Given the description of an element on the screen output the (x, y) to click on. 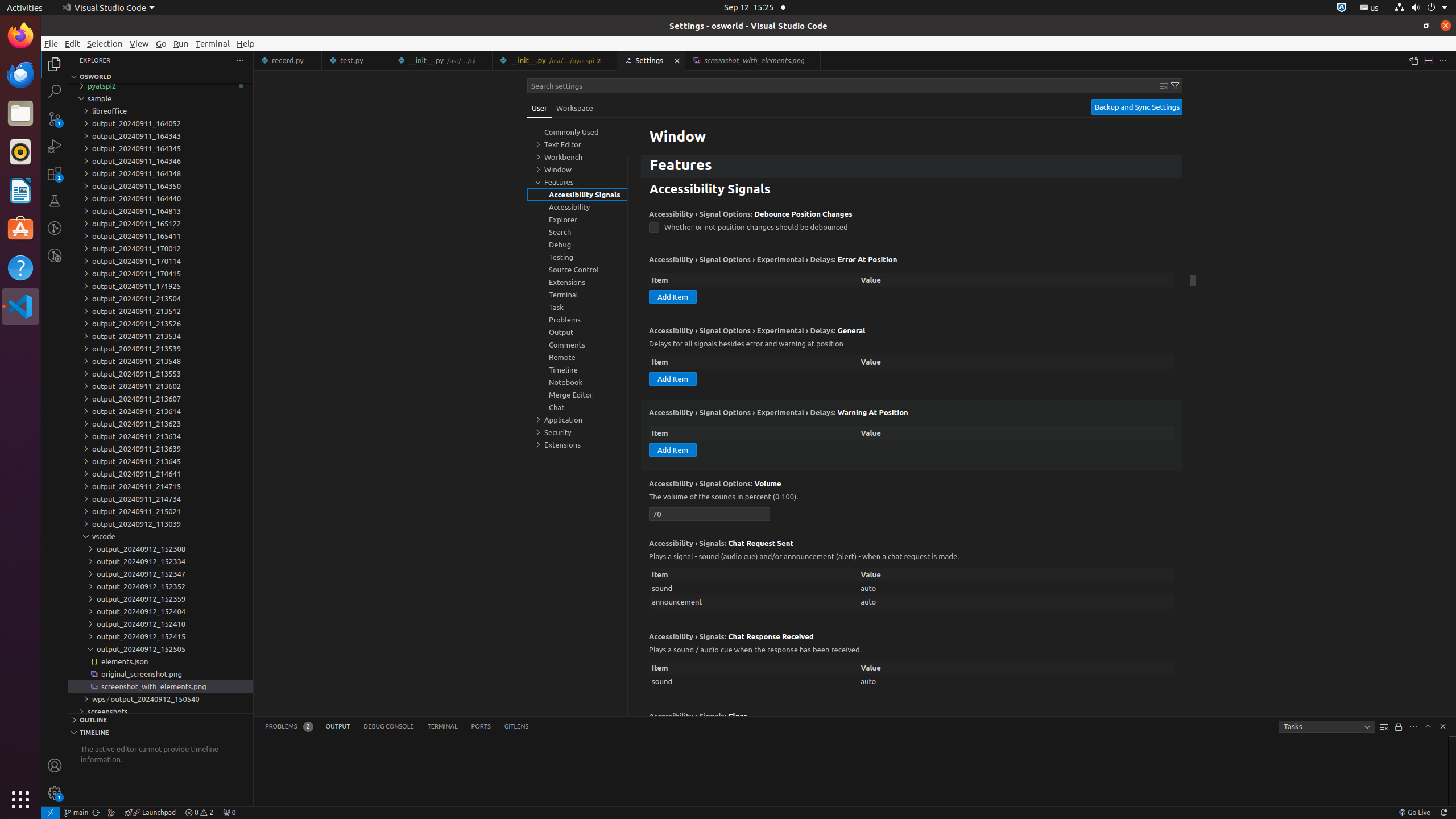
libreoffice Element type: tree-item (160, 110)
output_20240911_171925 Element type: tree-item (160, 285)
screenshot_with_elements.png Element type: tree-item (160, 686)
Tasks Element type: menu-item (1326, 726)
rocket gitlens-unplug Launchpad, GitLens Launchpad ᴘʀᴇᴠɪᴇᴡ    &mdash;    [$(question)](command:gitlens.launchpad.indicator.action?%22info%22 "What is this?") [$(gear)](command:workbench.action.openSettings?%22gitlens.launchpad%22 "Settings")  |  [$(circle-slash) Hide](command:gitlens.launchpad.indicator.action?%22hide%22 "Hide") --- [Launchpad](command:gitlens.launchpad.indicator.action?%info%22 "Learn about Launchpad") organizes your pull requests into actionable groups to help you focus and keep your team unblocked. It's always accessible using the `GitLens: Open Launchpad` command from the Command Palette. --- [Connect an integration](command:gitlens.showLaunchpad?%7B%22source%22%3A%22launchpad-indicator%22%7D "Connect an integration") to get started. Element type: push-button (150, 812)
